Given the description of an element on the screen output the (x, y) to click on. 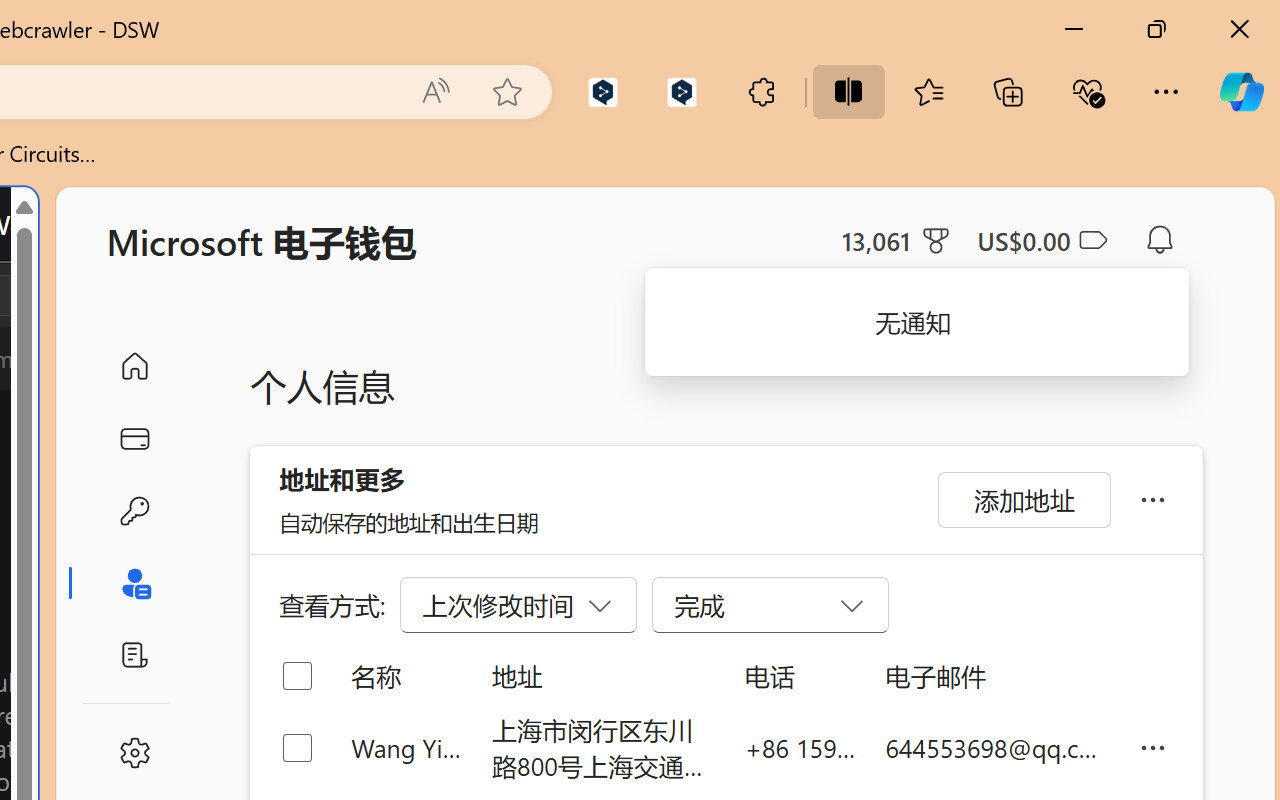
Class: actions-container (94, 295)
+86 159 0032 4640 (799, 747)
